Given the description of an element on the screen output the (x, y) to click on. 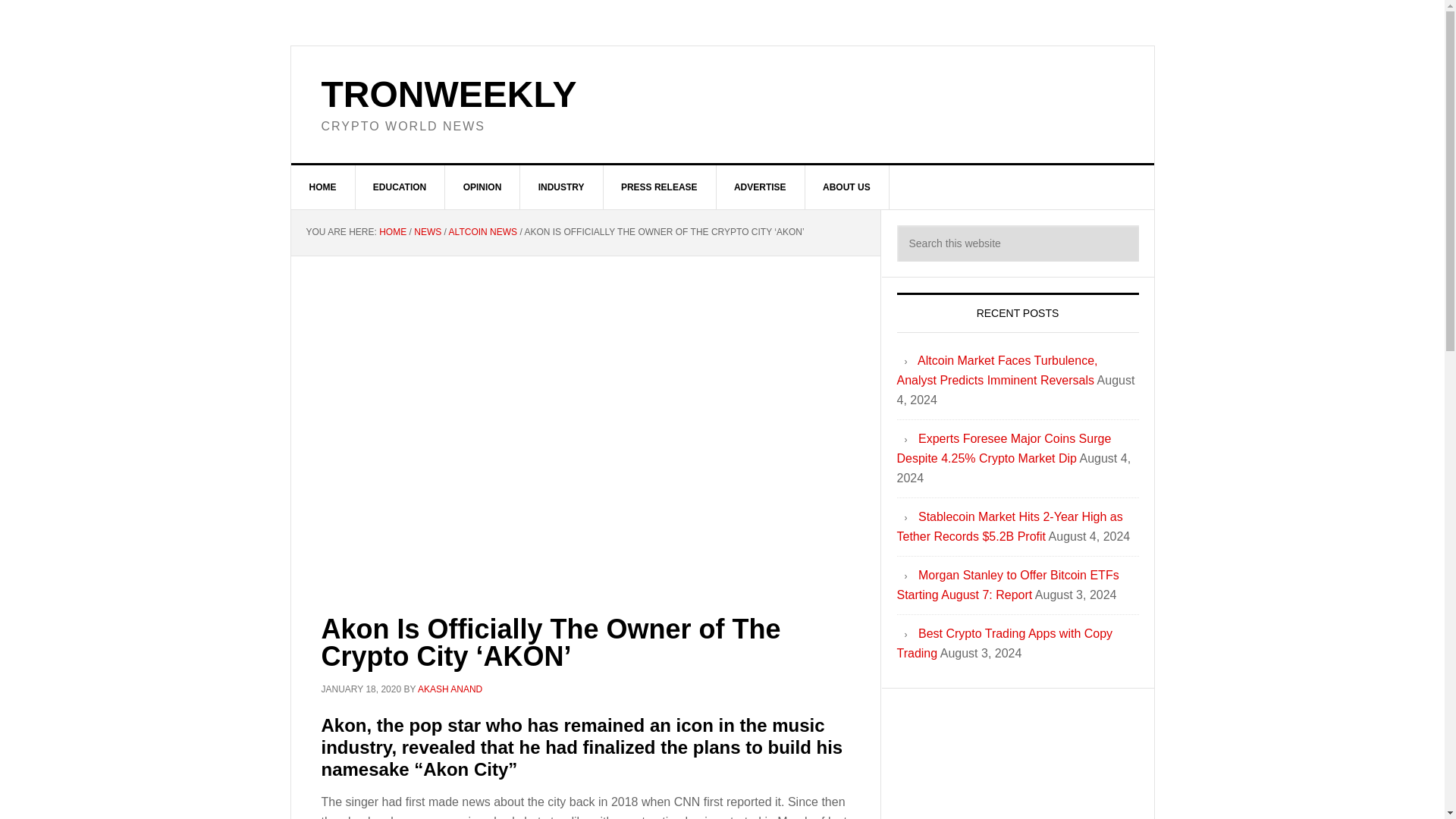
EDUCATION (400, 187)
ABOUT US (847, 187)
PRESS RELEASE (659, 187)
OPINION (483, 187)
TRONWEEKLY (448, 94)
Best Crypto Trading Apps with Copy Trading (1004, 643)
ADVERTISE (760, 187)
AKASH ANAND (449, 688)
ALTCOIN NEWS (482, 231)
INDUSTRY (561, 187)
HOME (323, 187)
